Given the description of an element on the screen output the (x, y) to click on. 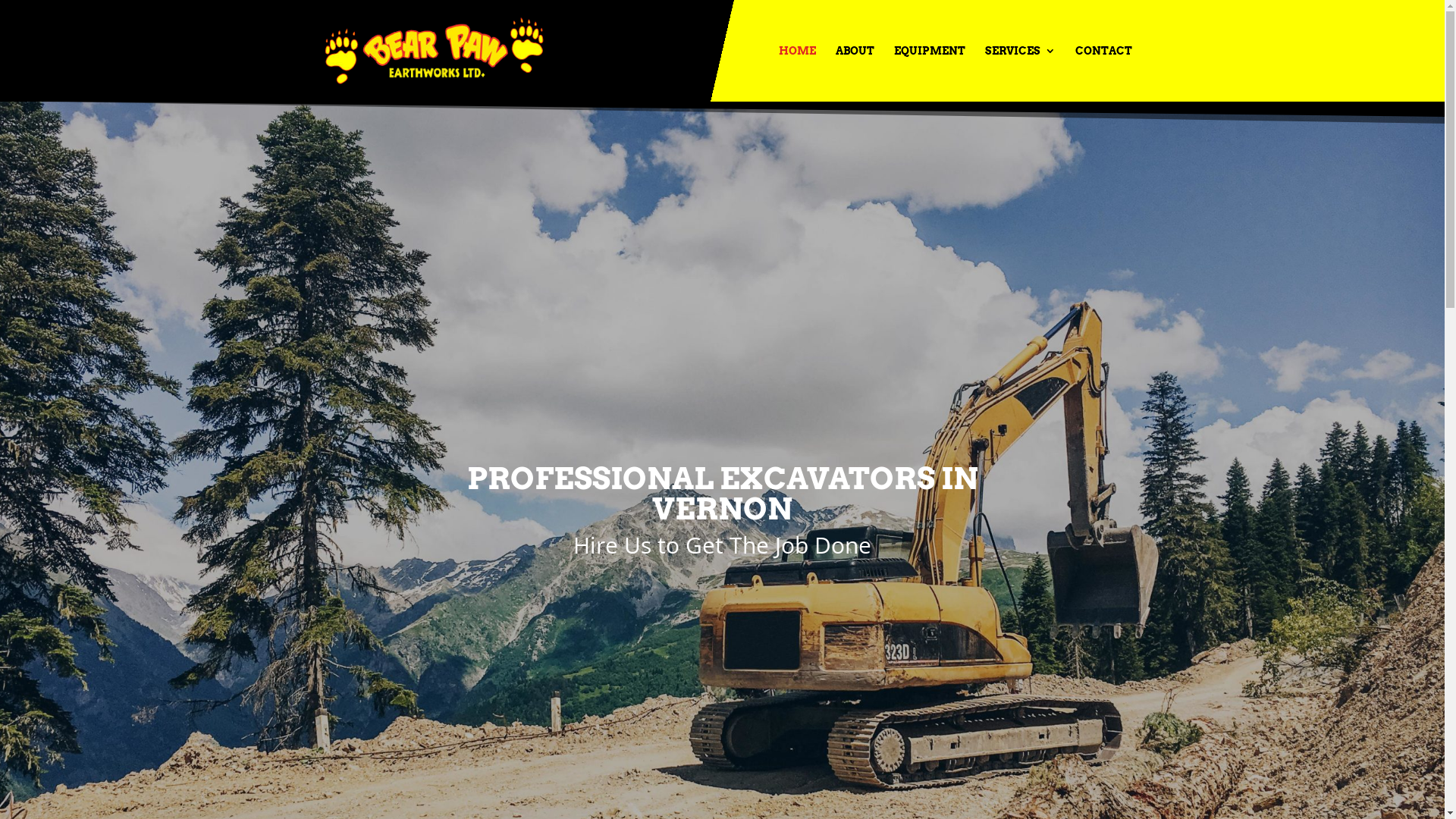
SERVICES Element type: text (1019, 73)
ABOUT Element type: text (854, 73)
CONTACT Element type: text (1103, 73)
EQUIPMENT Element type: text (928, 73)
HOME Element type: text (796, 73)
